Given the description of an element on the screen output the (x, y) to click on. 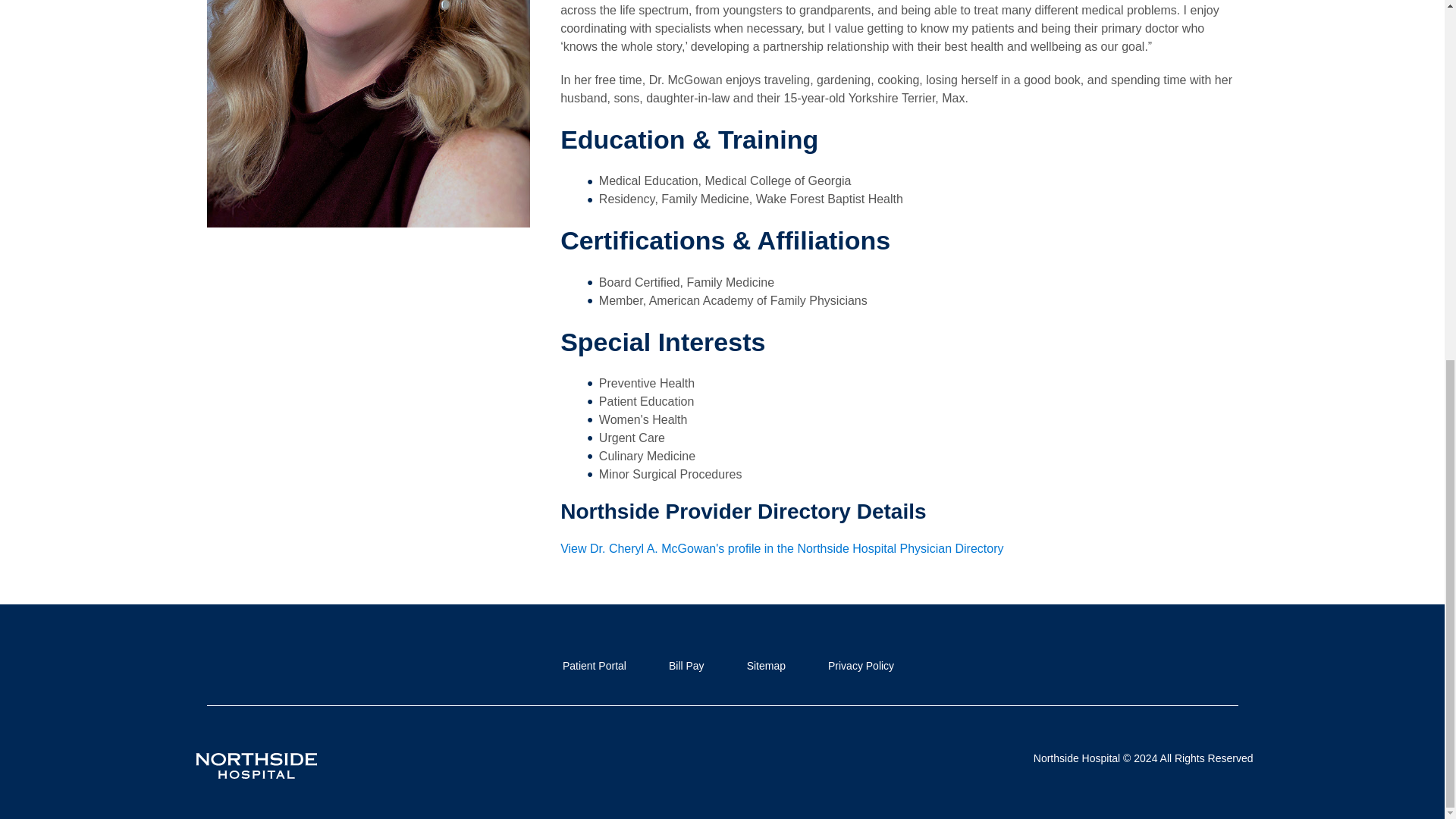
mcgowan (367, 113)
